Given the description of an element on the screen output the (x, y) to click on. 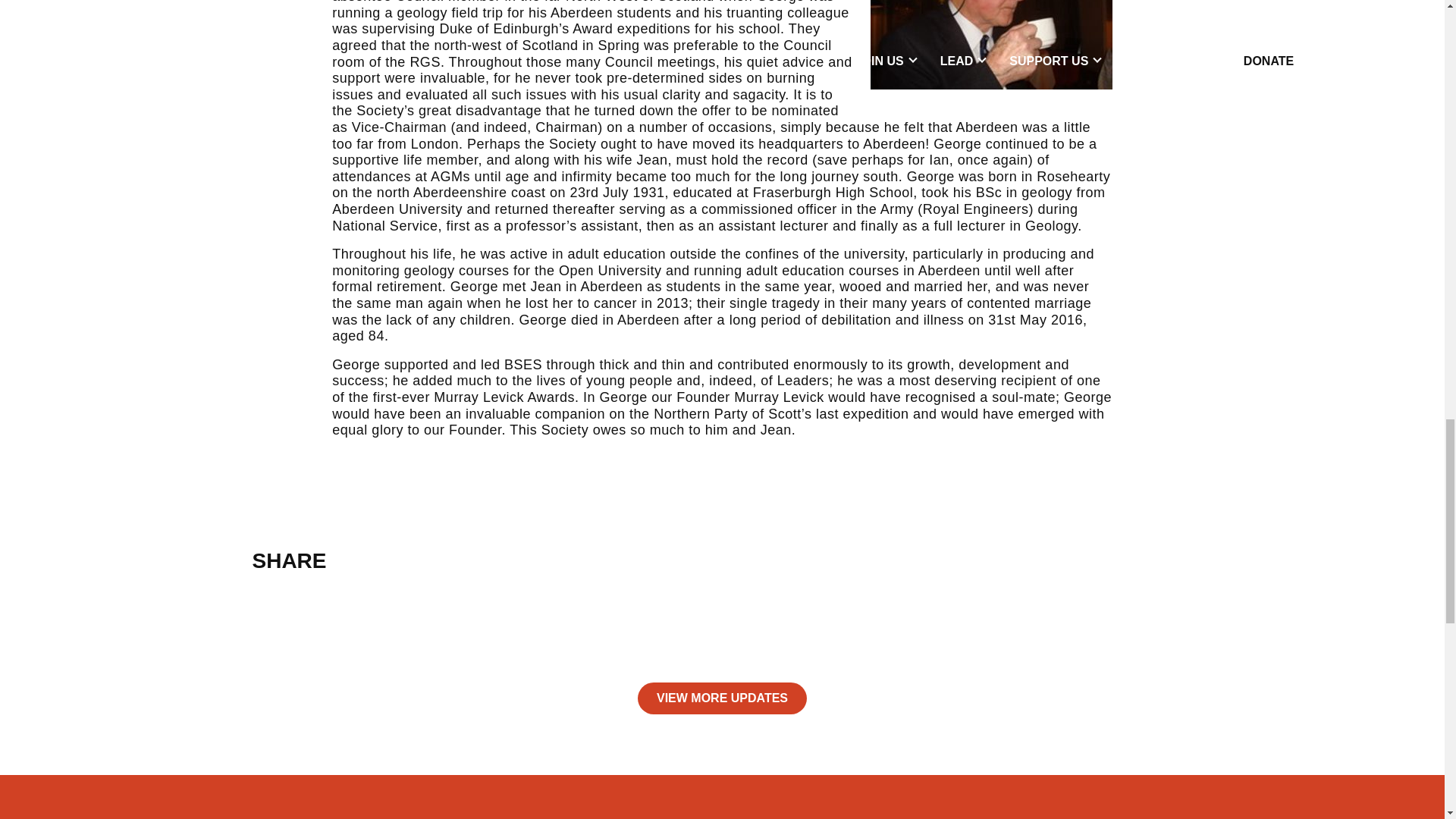
VIEW MORE UPDATES (721, 698)
